Given the description of an element on the screen output the (x, y) to click on. 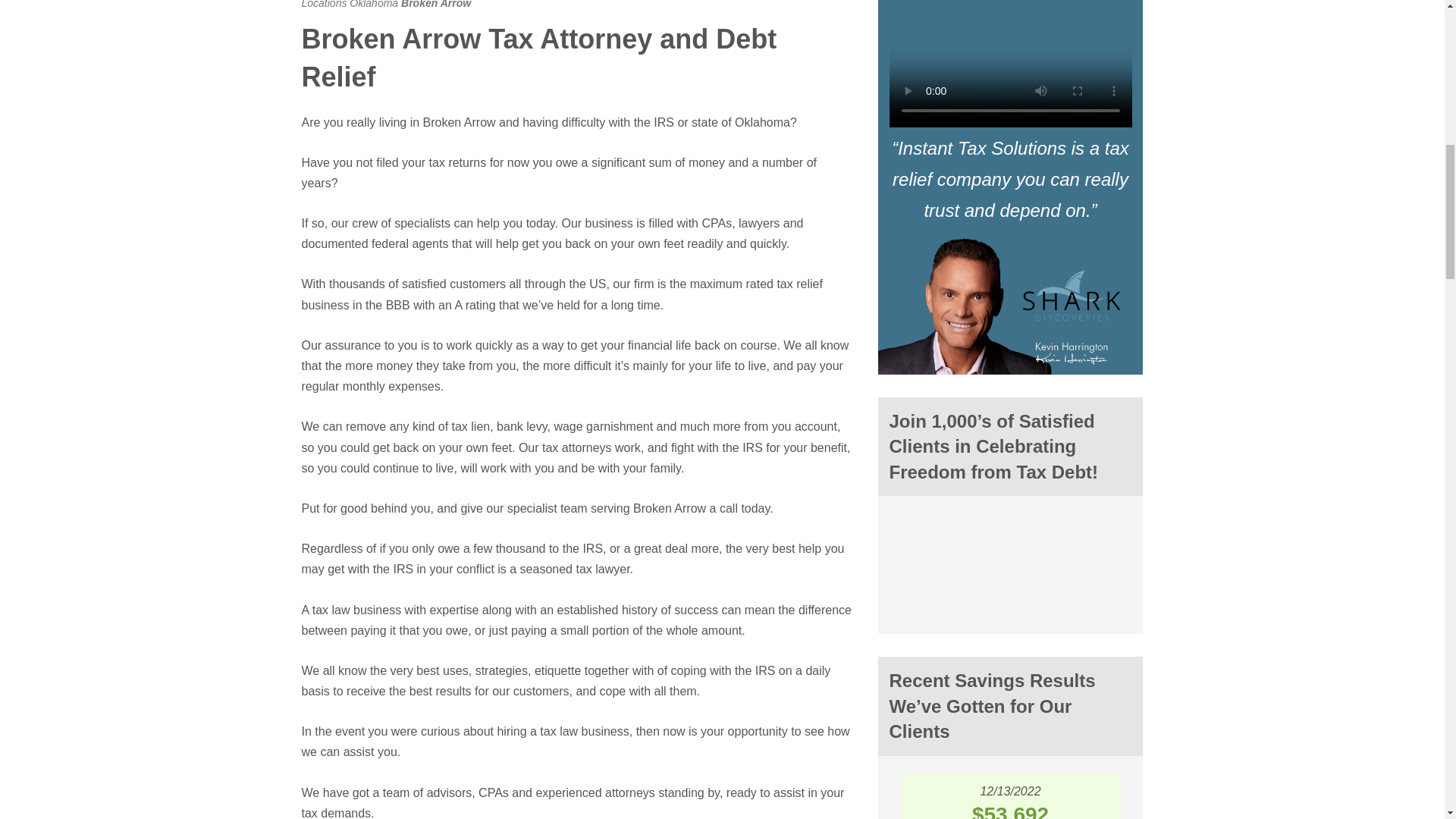
Business Verified (1009, 562)
TrustLink (921, 571)
Privacy Verified (1009, 529)
TrustPilot (1009, 600)
